Given the description of an element on the screen output the (x, y) to click on. 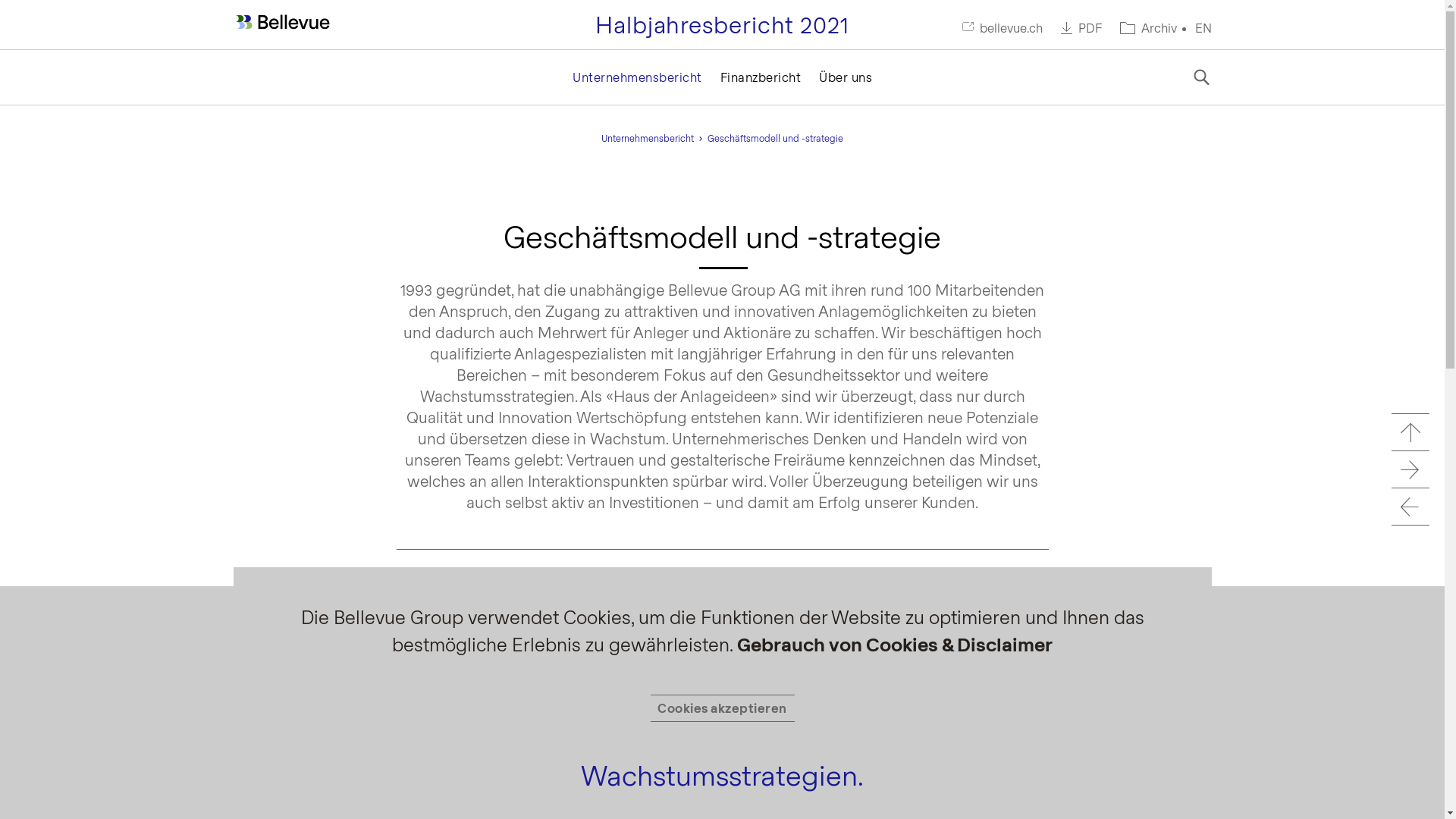
Finanzbericht Element type: text (760, 77)
Cookies akzeptieren Element type: text (722, 707)
Gebrauch von Cookies & Disclaimer Element type: text (892, 644)
Halbjahresbericht 2021 Element type: text (722, 23)
Unternehmensbericht Element type: text (637, 77)
Archiv Element type: text (1147, 27)
EN Element type: text (1203, 27)
